Given the description of an element on the screen output the (x, y) to click on. 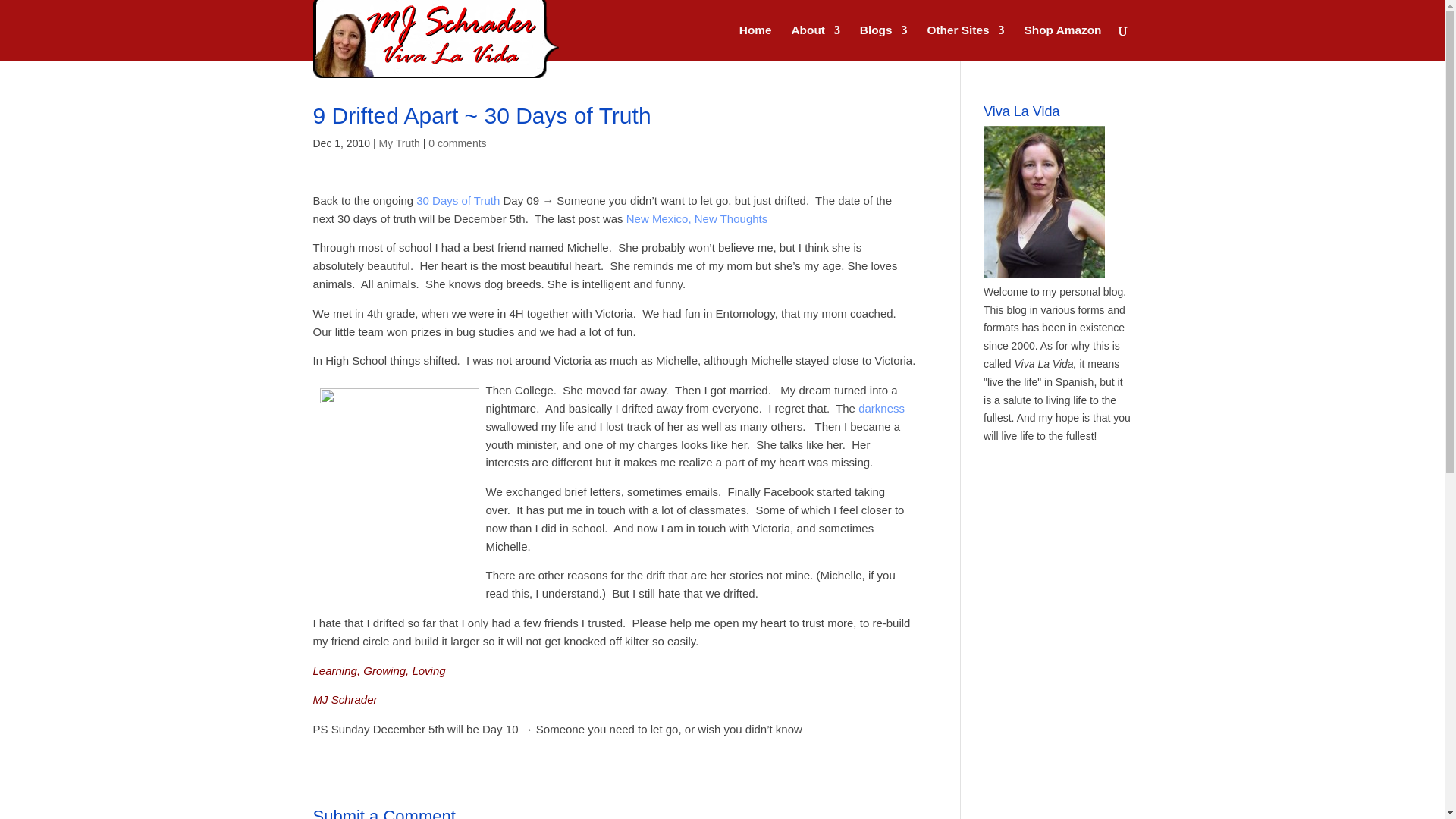
Home (755, 42)
30 Days of Truth (457, 200)
darkness (881, 408)
New Mexico, New Thoughts (696, 218)
My Truth (398, 143)
About (815, 42)
Other Sites (965, 42)
Blogs (883, 42)
Shop Amazon (1061, 42)
0 comments (457, 143)
